Given the description of an element on the screen output the (x, y) to click on. 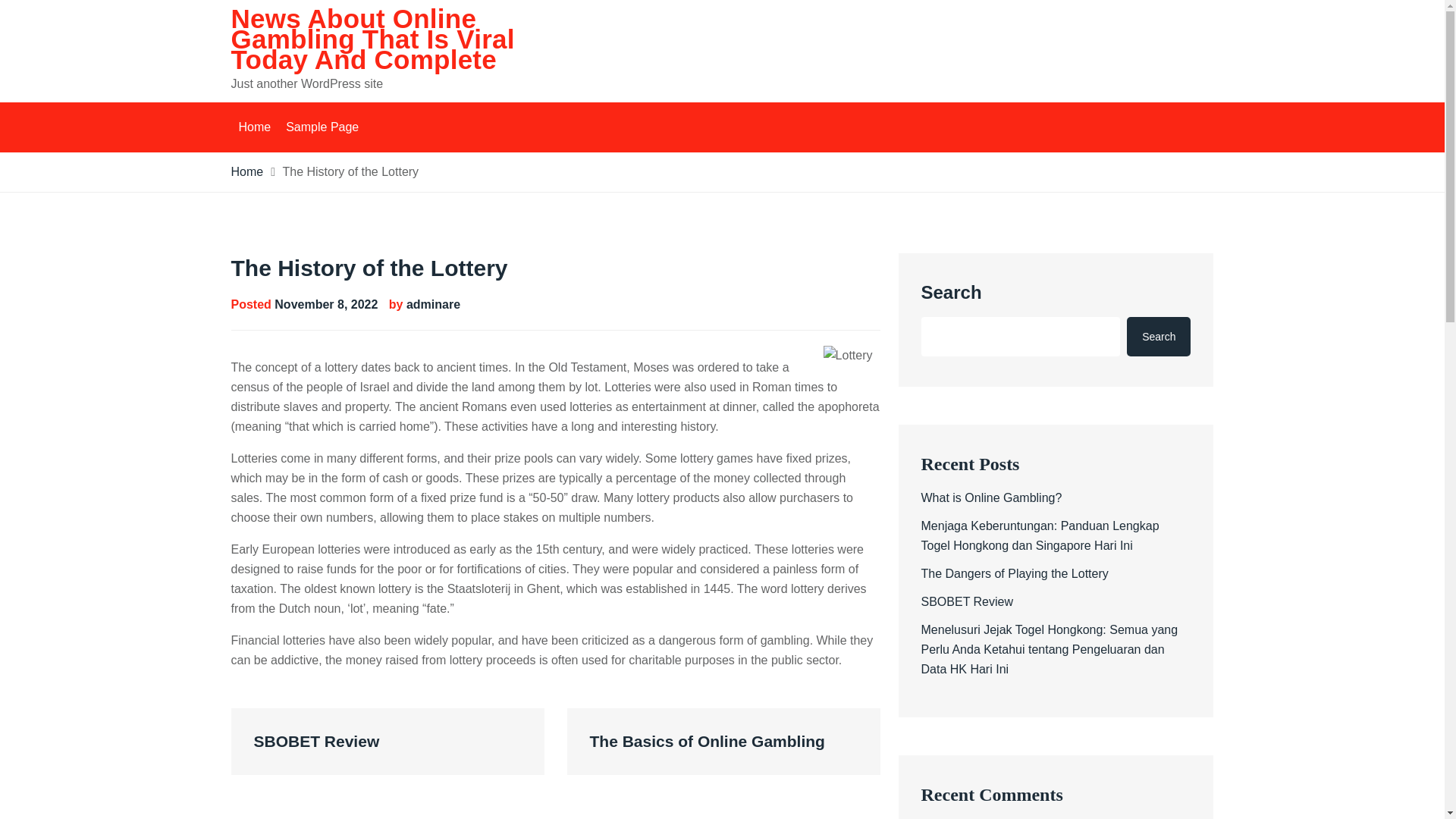
Search (1158, 336)
Home (254, 127)
Home (246, 171)
What is Online Gambling? (990, 497)
News About Online Gambling That Is Viral Today And Complete (371, 39)
Sample Page (322, 127)
The Basics of Online Gambling (723, 741)
SBOBET Review (966, 601)
SBOBET Review (386, 741)
adminare (433, 304)
